Given the description of an element on the screen output the (x, y) to click on. 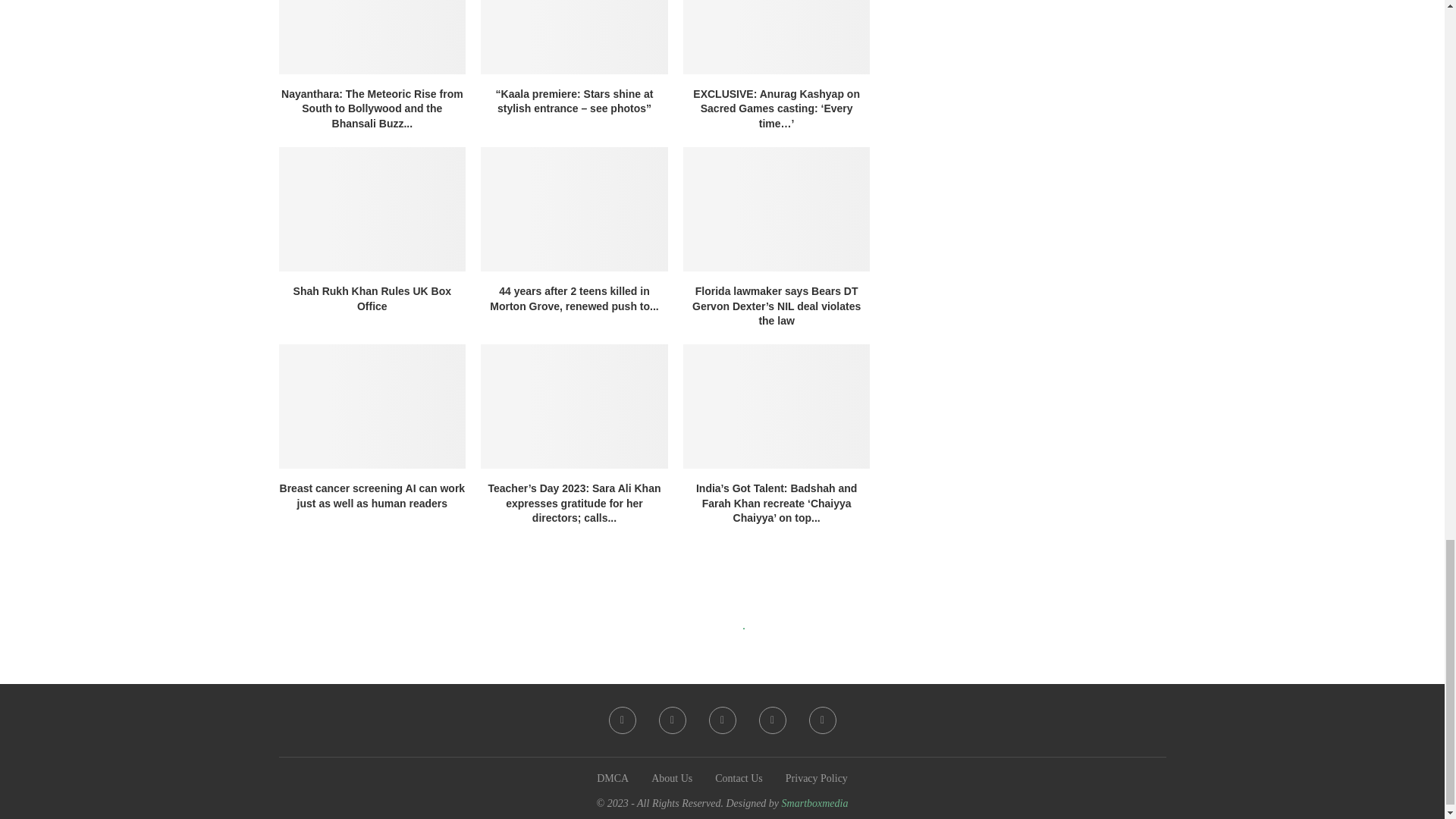
Shah Rukh Khan Rules UK Box Office (372, 209)
